Given the description of an element on the screen output the (x, y) to click on. 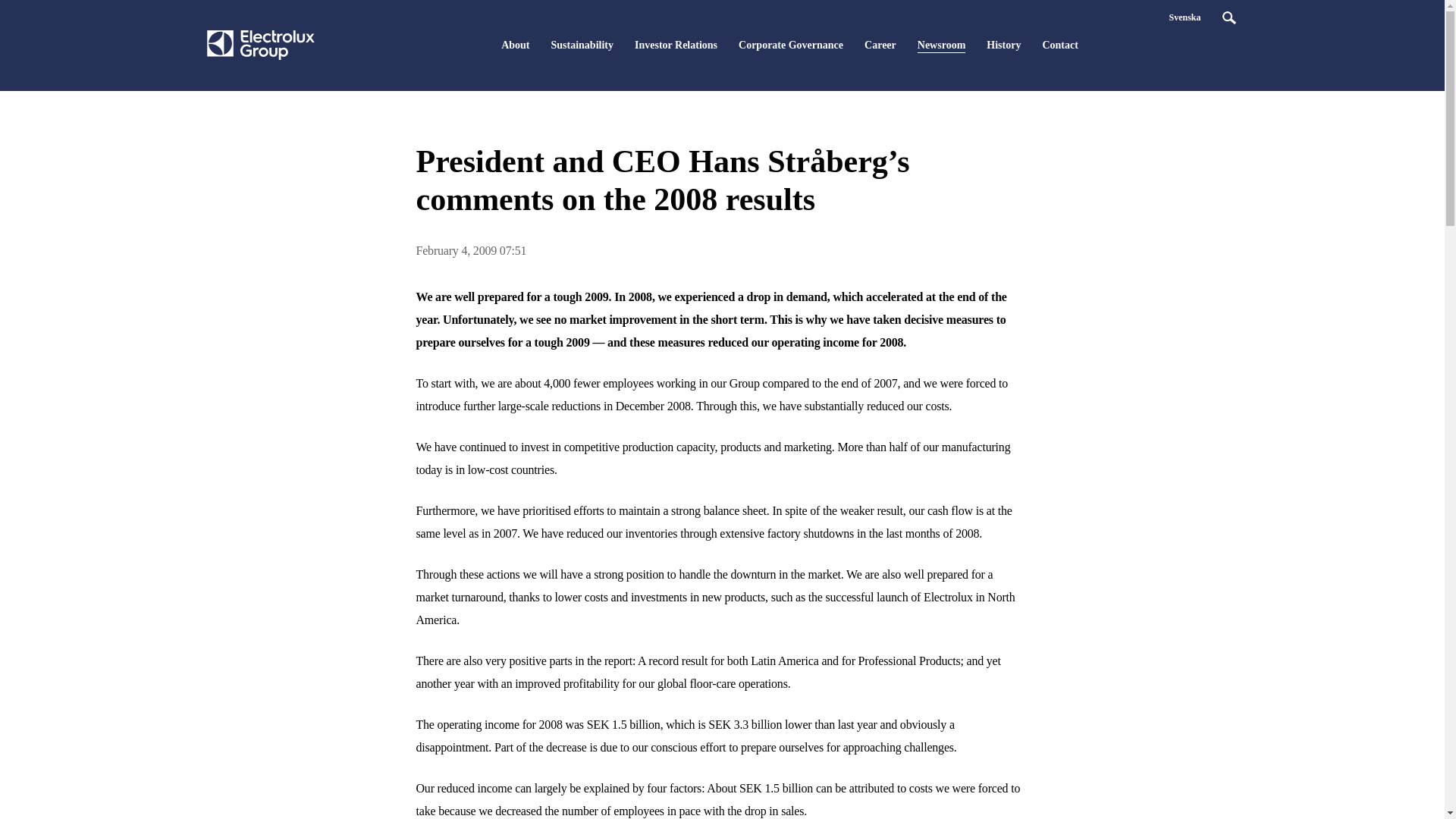
Svenska (1184, 17)
About (515, 45)
Sustainability (582, 45)
